Given the description of an element on the screen output the (x, y) to click on. 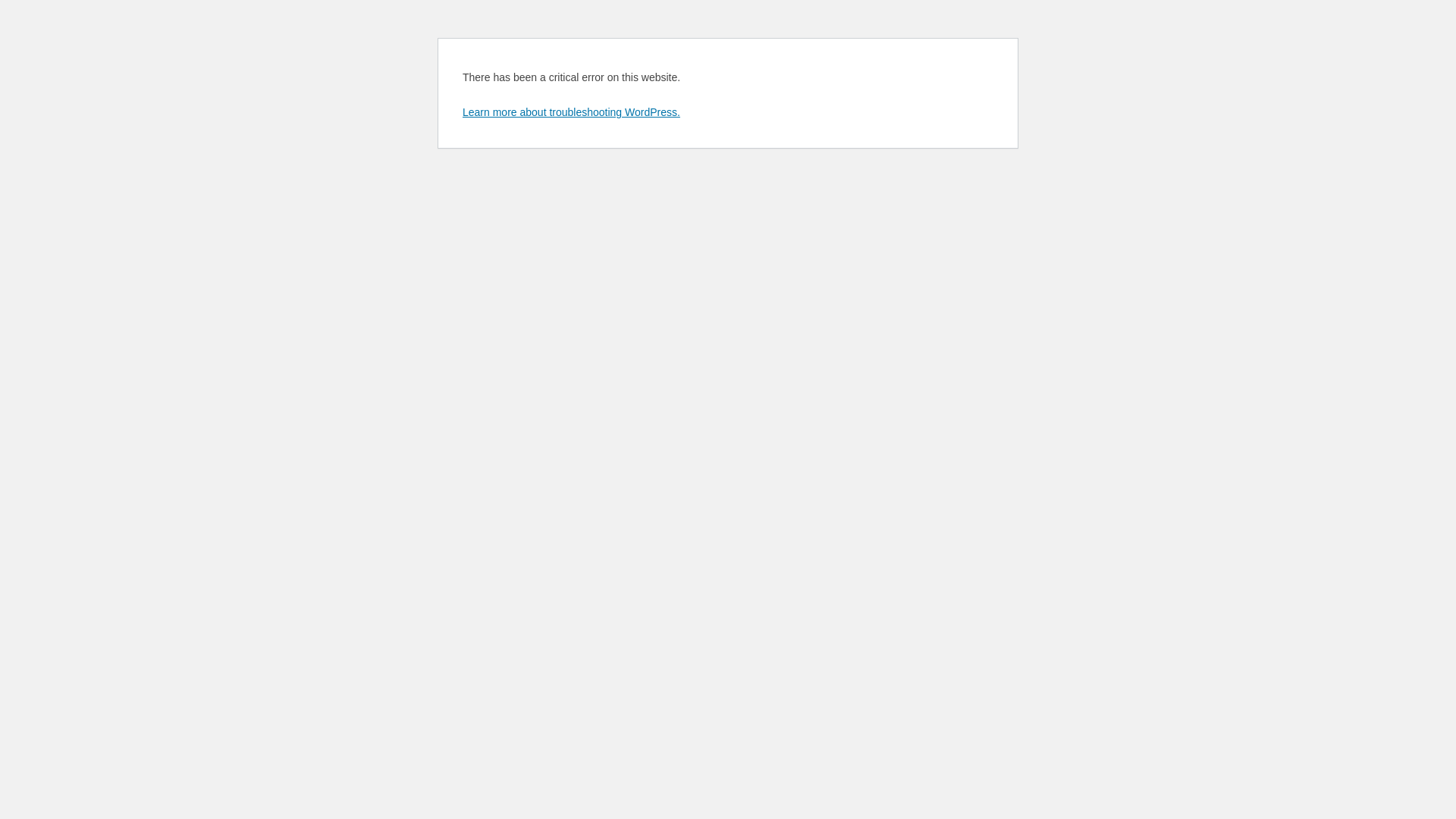
Learn more about troubleshooting WordPress. Element type: text (571, 112)
